Given the description of an element on the screen output the (x, y) to click on. 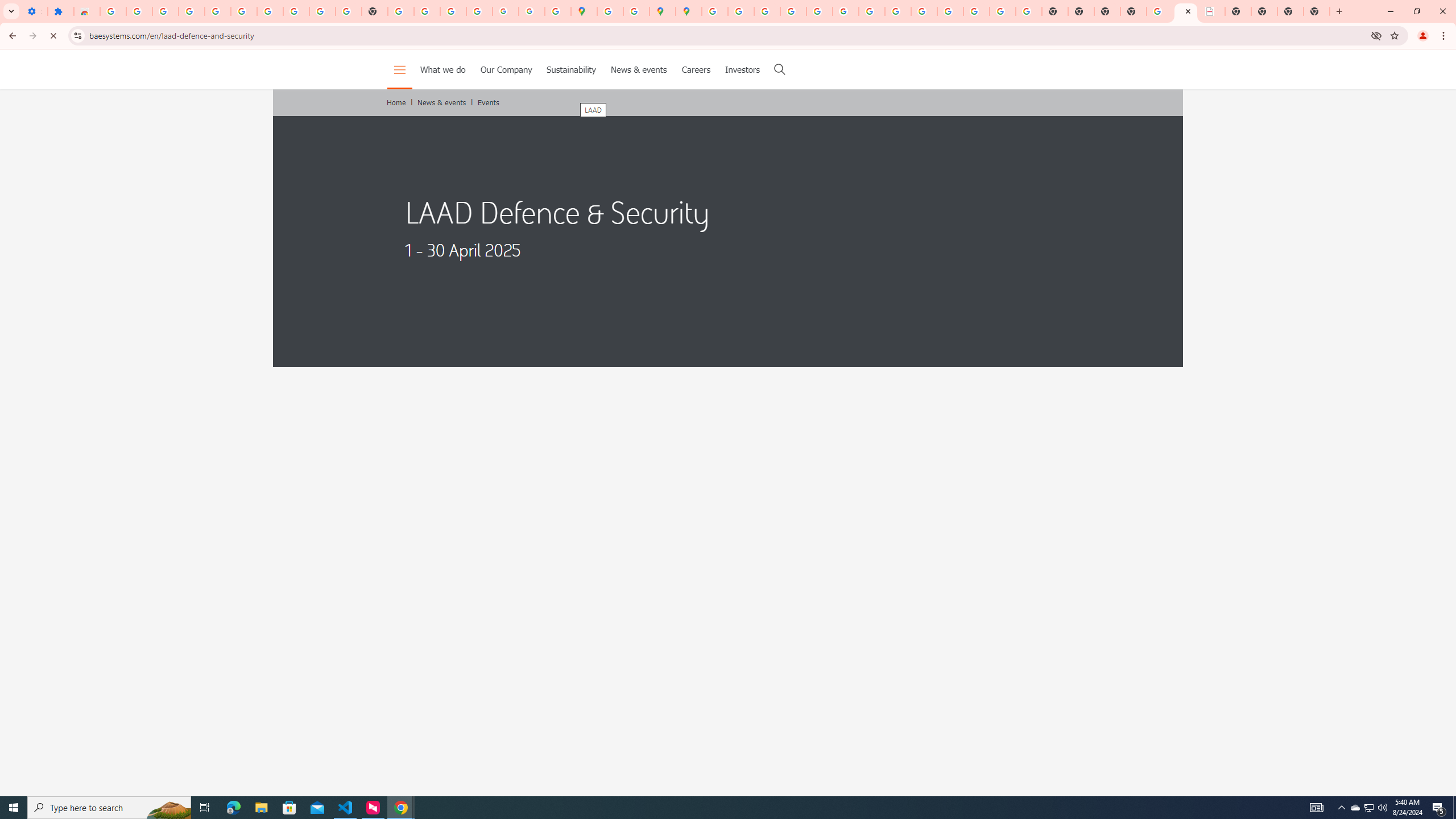
Sustainability (571, 69)
Privacy Help Center - Policies Help (792, 11)
Our Company (505, 69)
Delete photos & videos - Computer - Google Photos Help (165, 11)
Settings - On startup (34, 11)
